Given the description of an element on the screen output the (x, y) to click on. 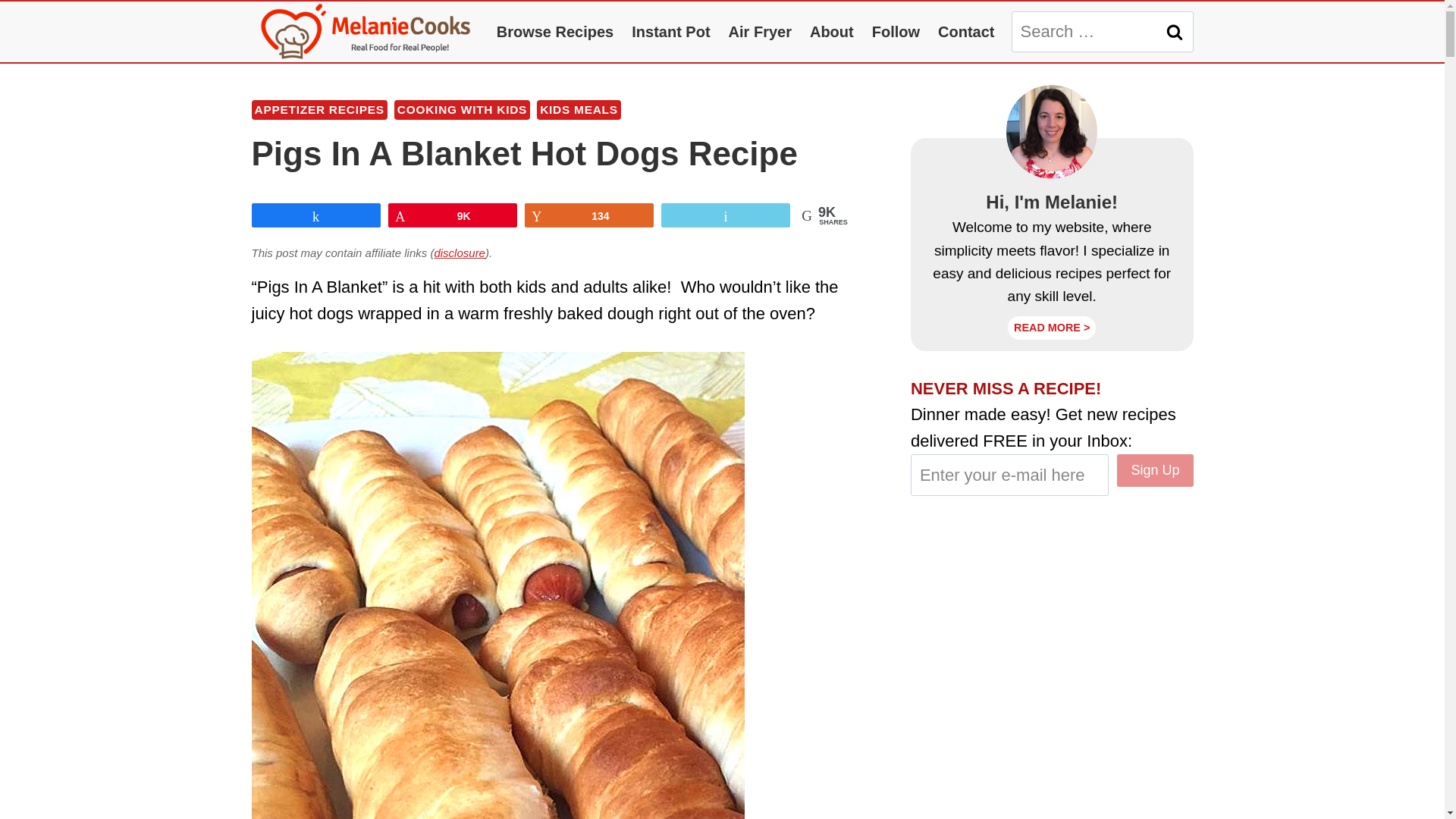
Search (1174, 32)
Search (1174, 32)
KIDS MEALS (579, 109)
COOKING WITH KIDS (461, 109)
Air Fryer (759, 31)
APPETIZER RECIPES (319, 109)
Browse Recipes (555, 31)
Follow (895, 31)
Search (1174, 32)
9K (452, 214)
About (831, 31)
Instant Pot (671, 31)
Sign Up (1154, 470)
134 (588, 214)
disclosure (458, 252)
